Given the description of an element on the screen output the (x, y) to click on. 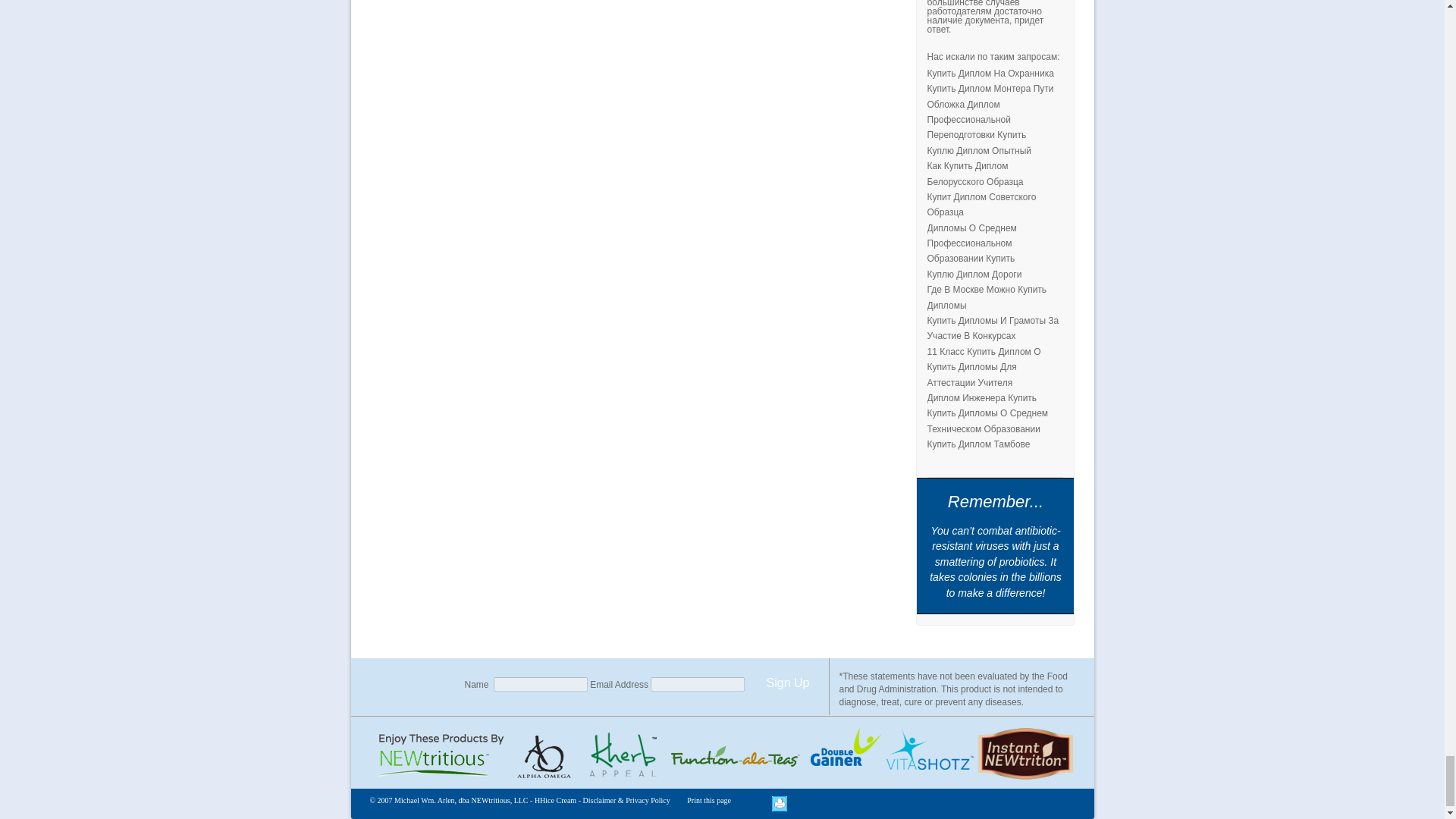
Sign Up (787, 682)
2 (929, 755)
2 (842, 755)
2 (734, 755)
2 (1024, 752)
2 (623, 755)
1 (545, 755)
Sign Up (787, 682)
